Given the description of an element on the screen output the (x, y) to click on. 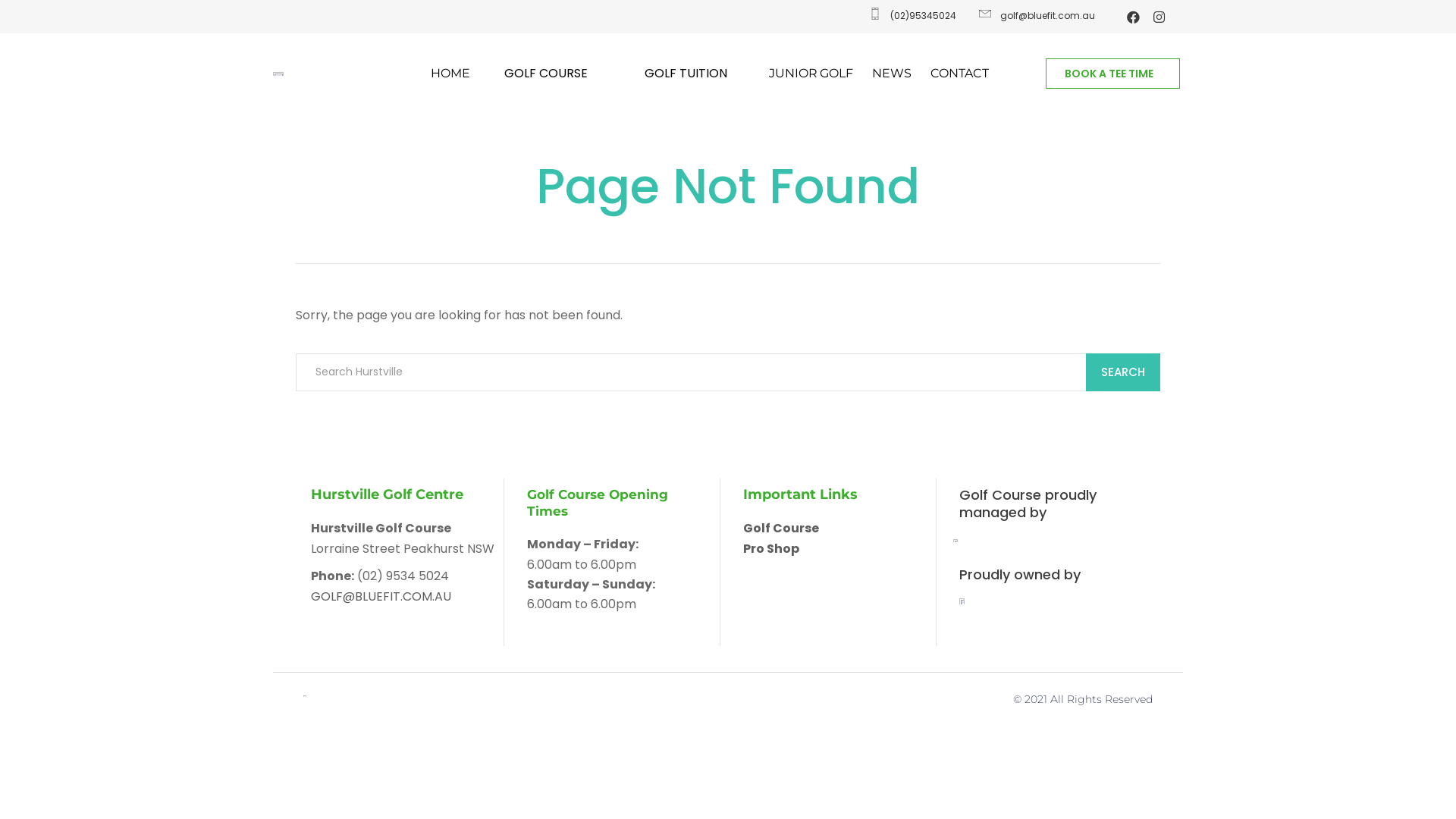
NEWS Element type: text (891, 73)
golf@bluefit.com.au Element type: text (1035, 15)
Golf Course Element type: text (781, 527)
HOME Element type: text (450, 73)
BOOK A TEE TIME Element type: text (1112, 73)
CONTACT Element type: text (959, 73)
GOLF@BLUEFIT.COM.AU Element type: text (380, 596)
Pro Shop Element type: text (771, 548)
JUNIOR GOLF Element type: text (810, 73)
GOLF TUITION Element type: text (689, 73)
GOLF COURSE Element type: text (549, 73)
SEARCH Element type: text (1122, 372)
(02)95345024 Element type: text (911, 15)
